Given the description of an element on the screen output the (x, y) to click on. 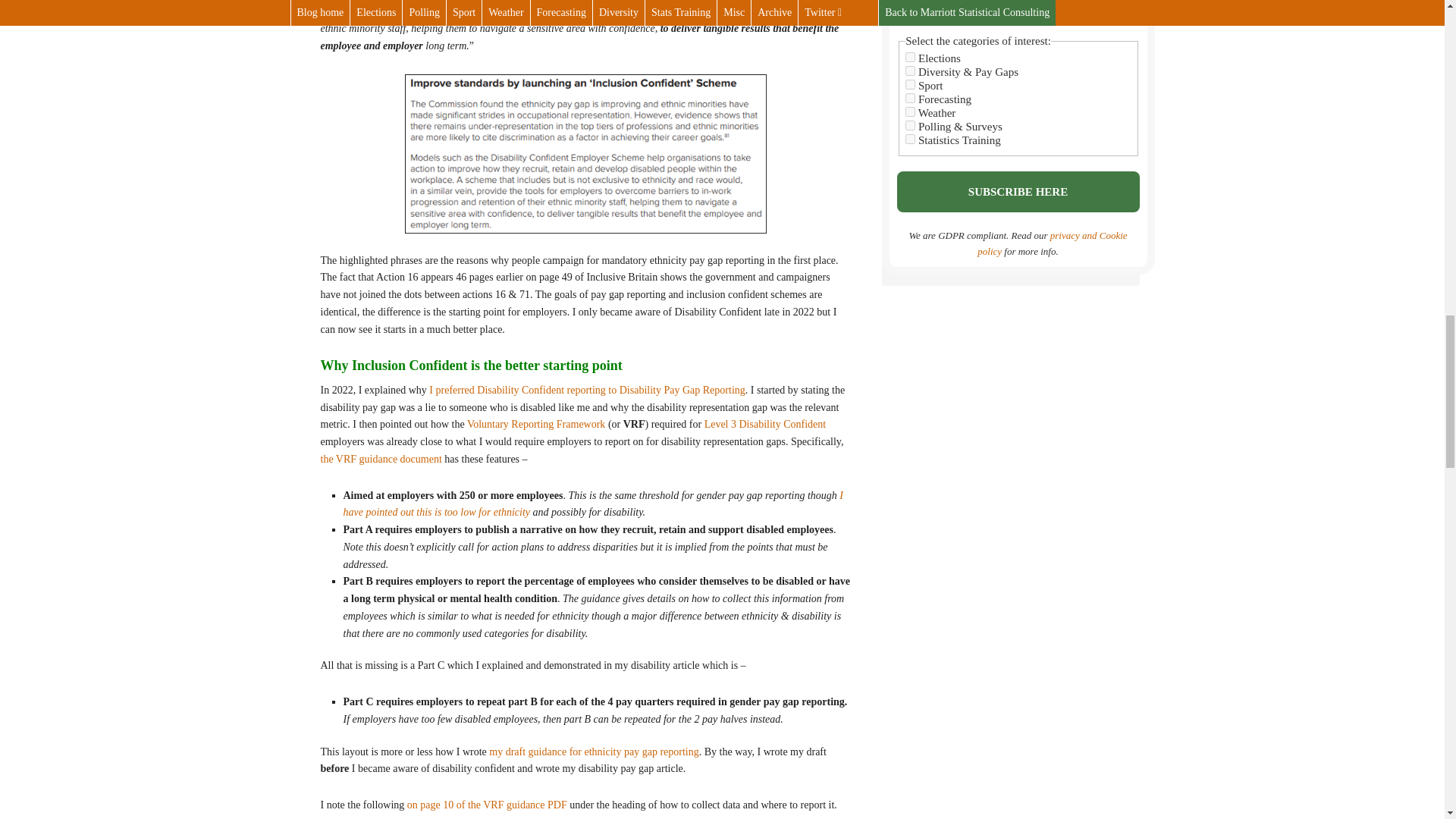
Level 3 Disability Confident (765, 423)
7 (910, 125)
the VRF guidance document (380, 459)
SUBSCRIBE HERE (1017, 191)
15 (910, 139)
on page 10 of the VRF guidance PDF (487, 804)
5 (910, 57)
Email Address (1017, 9)
Voluntary Reporting Framework (536, 423)
